Given the description of an element on the screen output the (x, y) to click on. 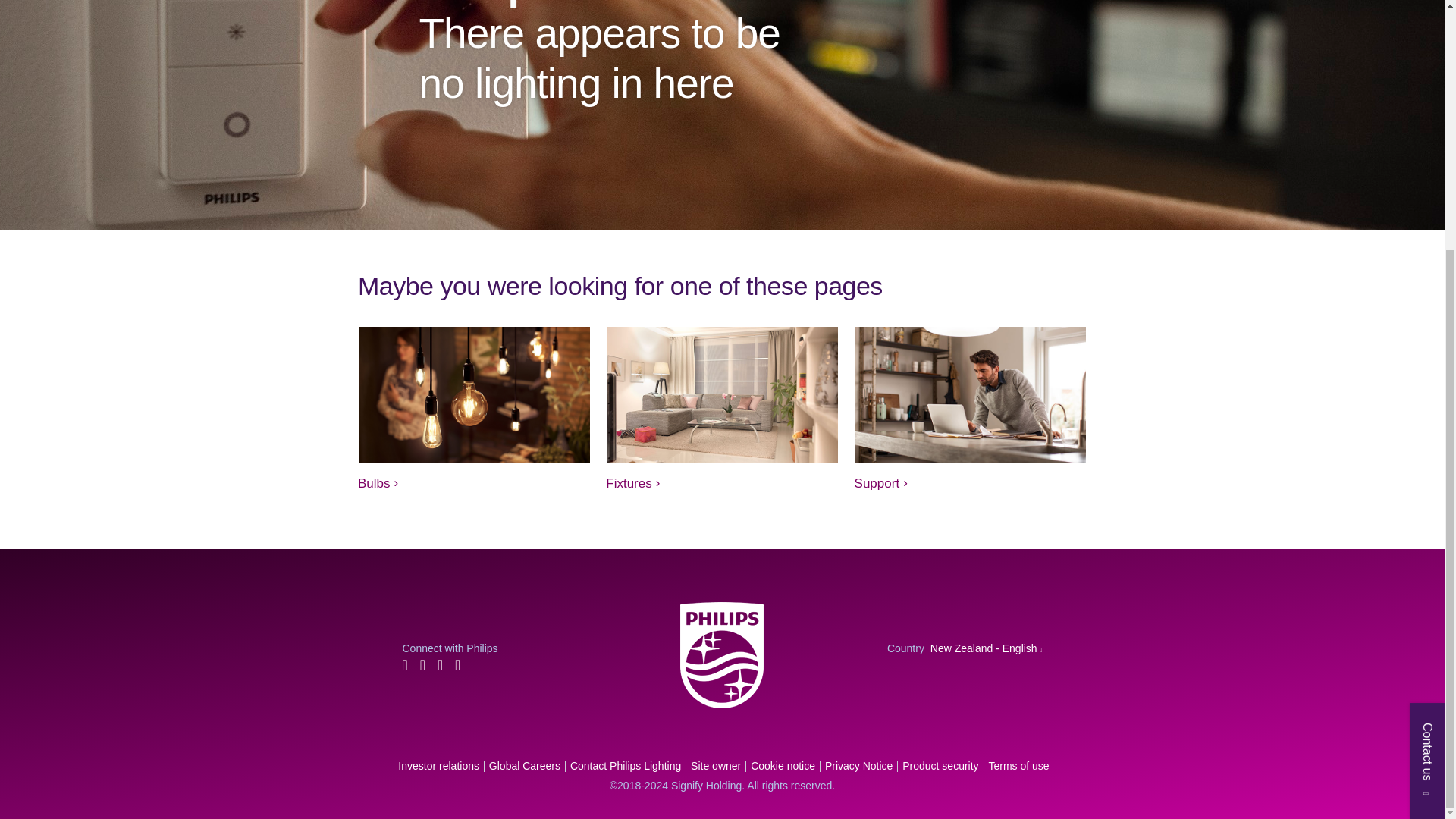
Global Careers (522, 766)
Bulbs (377, 483)
Site owner (713, 766)
Investor relations (436, 766)
Contact Philips Lighting (623, 766)
Fixtures (632, 483)
Country New Zealand - English (964, 648)
Cookie notice (780, 766)
Support (880, 483)
